Given the description of an element on the screen output the (x, y) to click on. 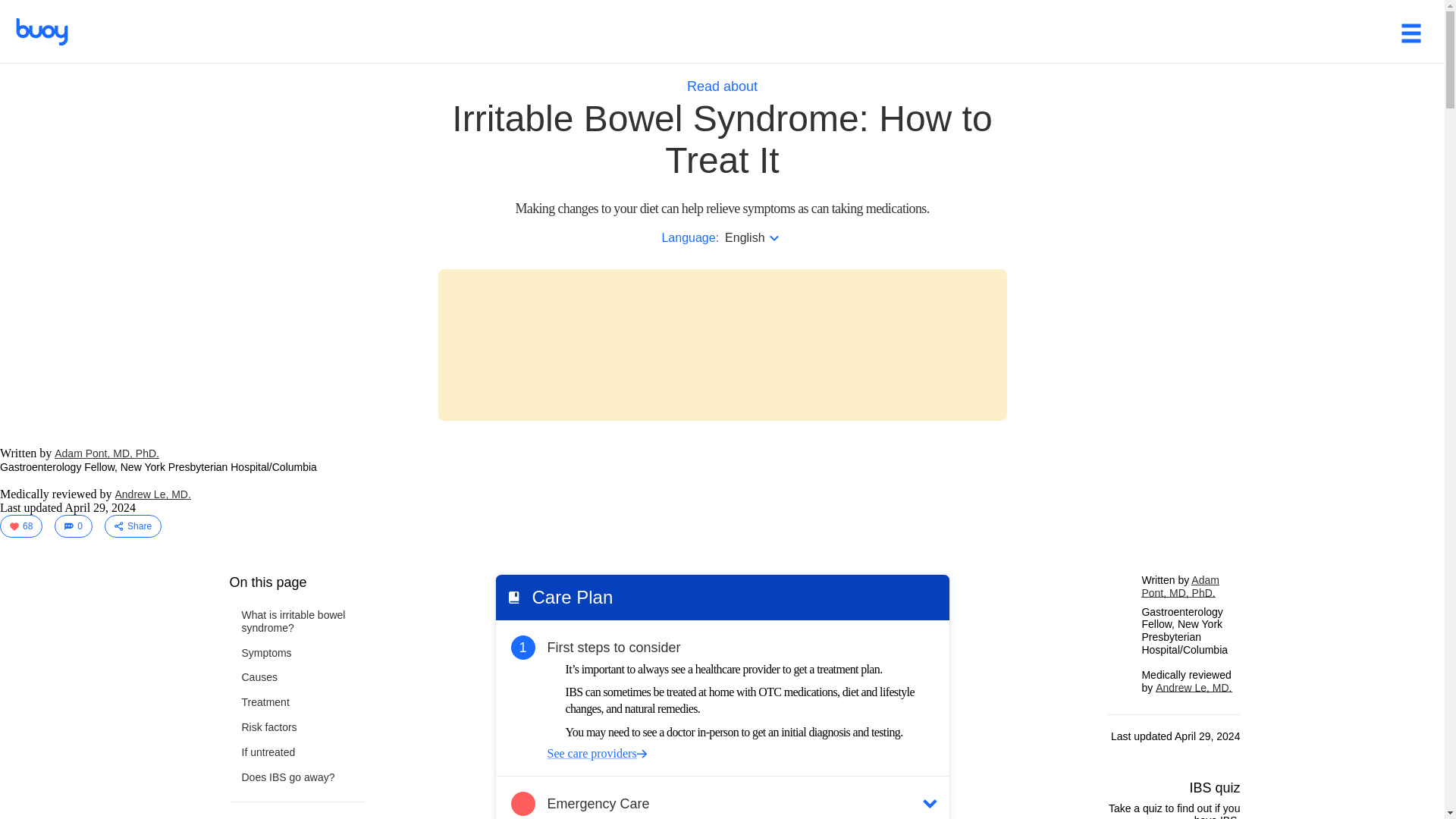
Symptoms (266, 652)
Buoy Logo. (41, 31)
0 (74, 526)
What is irritable bowel syndrome? (303, 621)
Causes (258, 677)
If untreated (268, 752)
Risk factors (269, 727)
Buoy Logo. (41, 41)
Adam Pont, MD, PhD. (106, 453)
Does IBS go away? (287, 777)
